Given the description of an element on the screen output the (x, y) to click on. 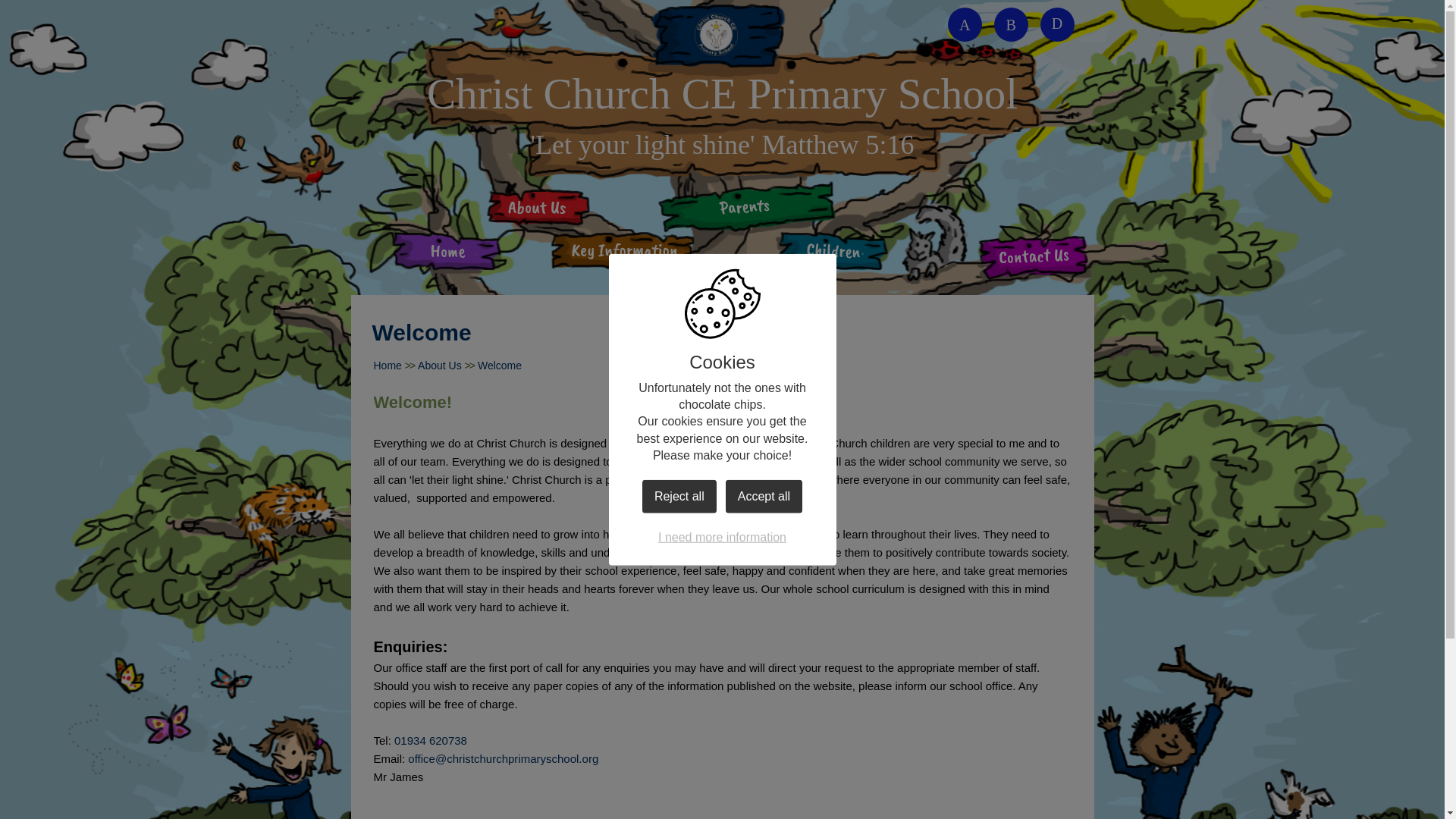
Home (386, 365)
About Us (533, 212)
01934 620738 (430, 739)
Home (446, 256)
Log in (1057, 24)
About Us (439, 365)
Key Information (622, 256)
Welcome (499, 365)
